Given the description of an element on the screen output the (x, y) to click on. 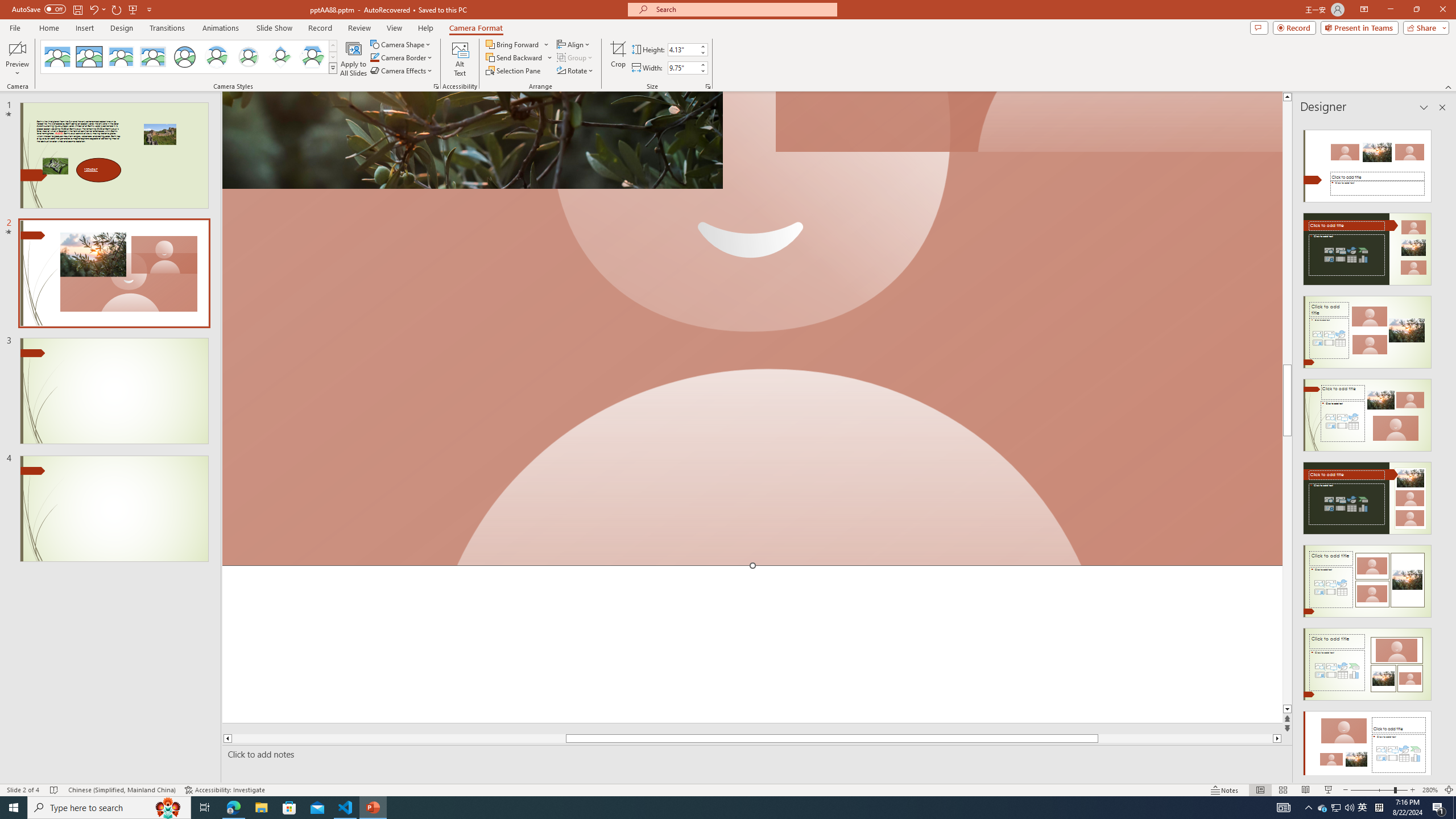
Cameo Width (682, 67)
AutomationID: CameoStylesGallery (189, 56)
Size and Position... (707, 85)
Soft Edge Circle (248, 56)
Camera Border Teal, Accent 1 (374, 56)
Apply to All Slides (353, 58)
